Given the description of an element on the screen output the (x, y) to click on. 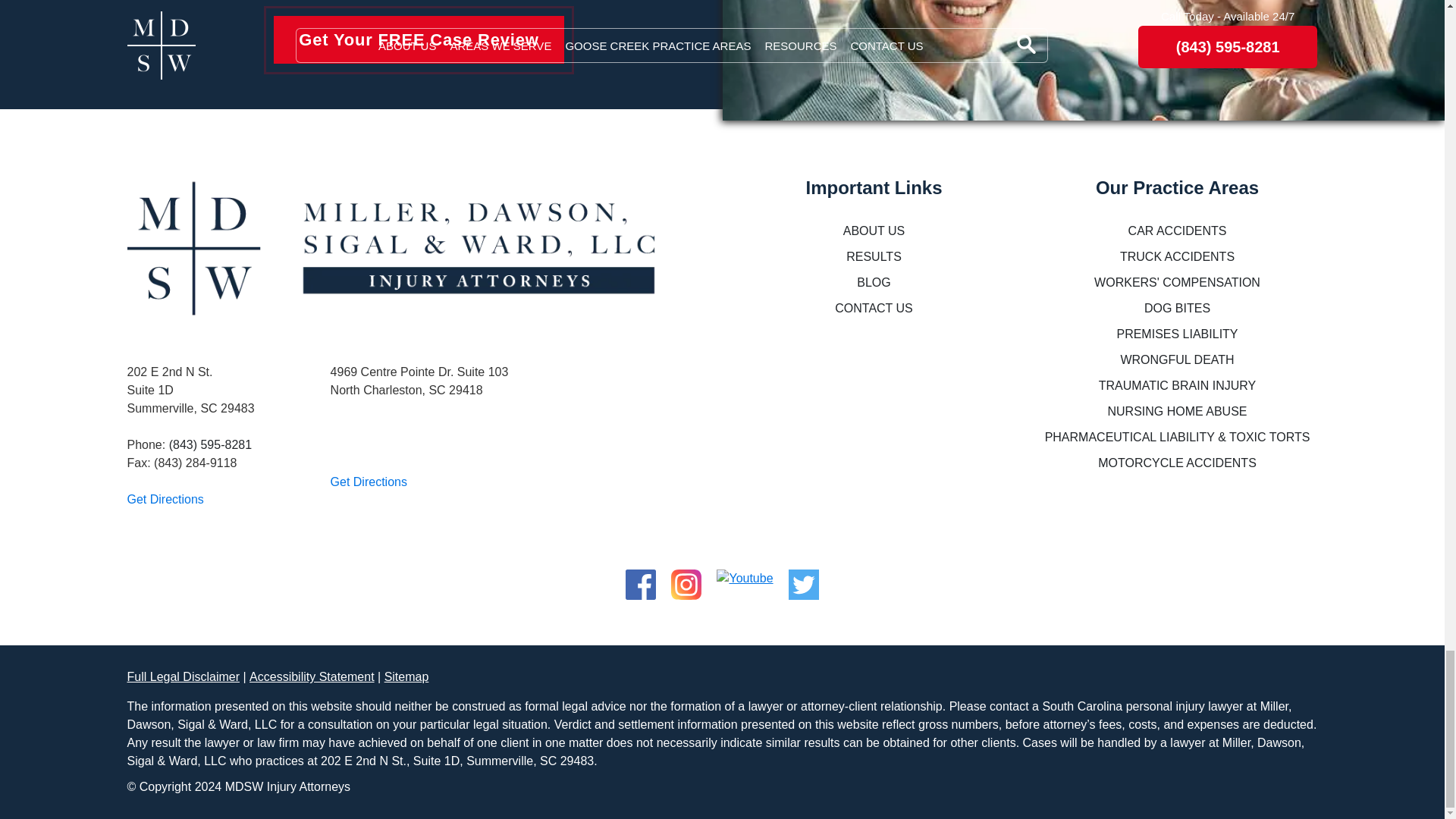
phone (209, 444)
Twitter (803, 577)
Youtube (744, 577)
Facebook (641, 577)
Instagram (686, 577)
